Given the description of an element on the screen output the (x, y) to click on. 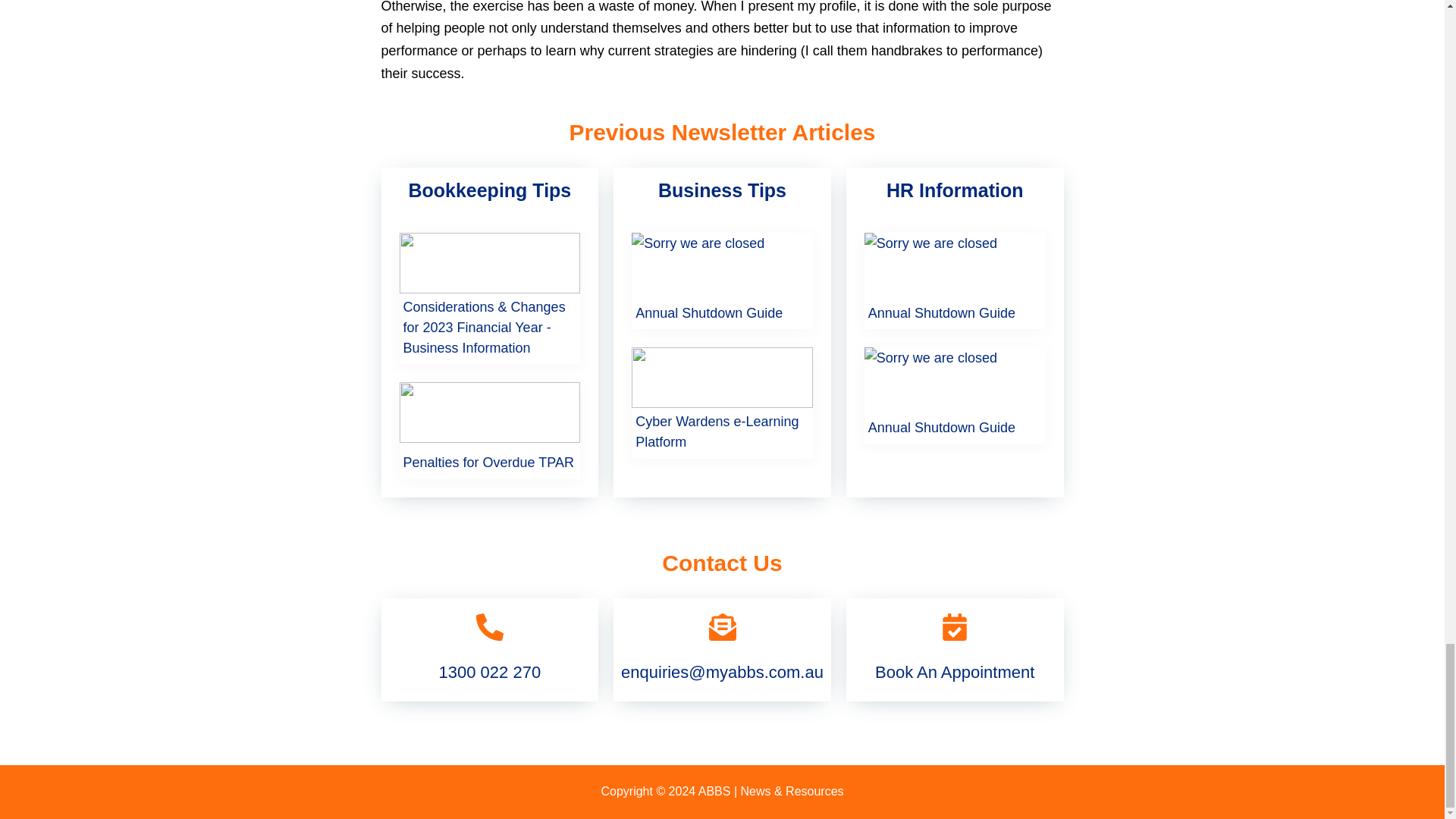
Annual Shutdown Guide (708, 313)
Annual Shutdown Guide (940, 313)
Cyber Wardens e-Learning Platform (721, 431)
Annual Shutdown Guide (940, 427)
Penalties for Overdue TPAR (488, 462)
